Given the description of an element on the screen output the (x, y) to click on. 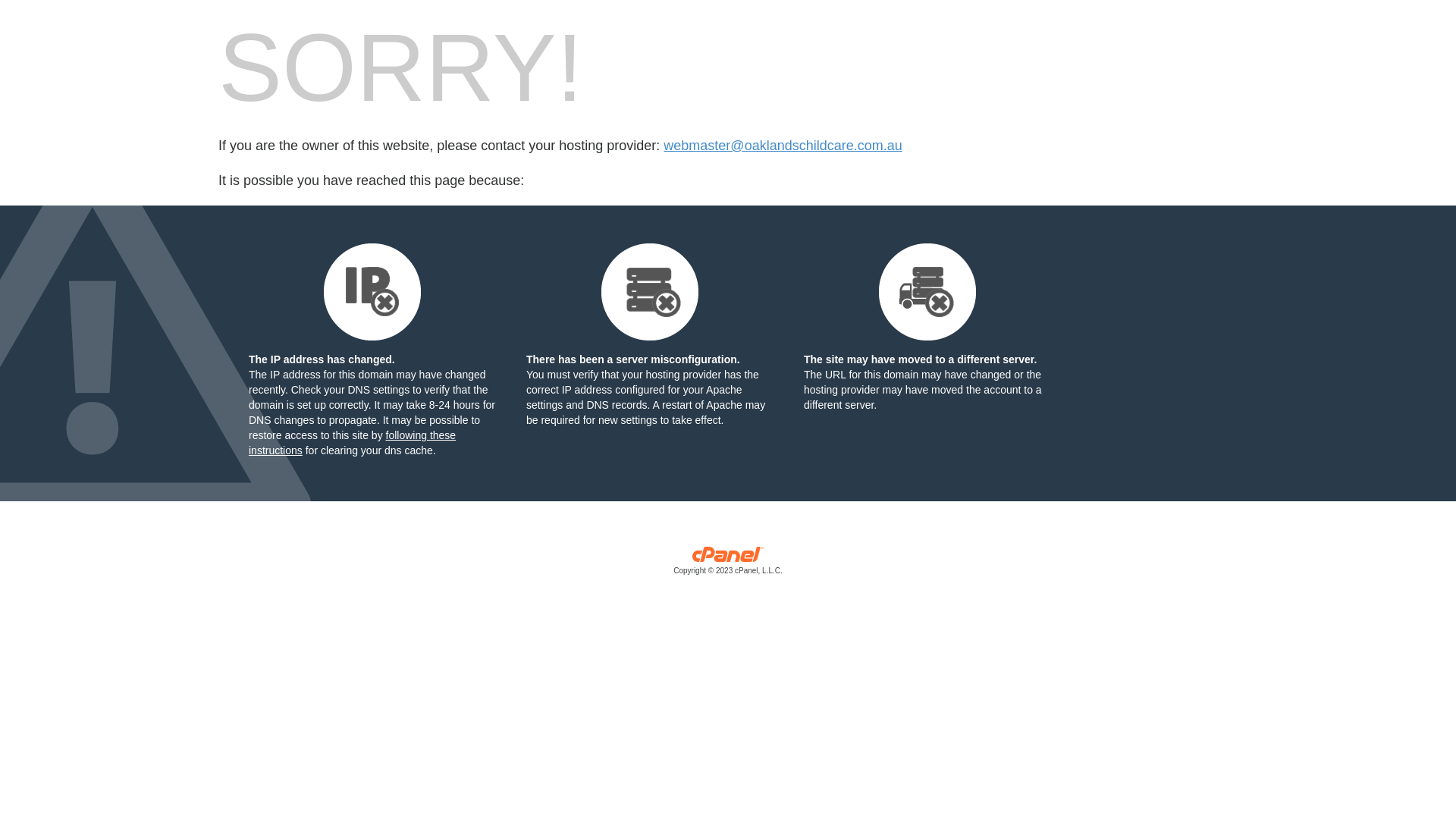
webmaster@oaklandschildcare.com.au Element type: text (782, 145)
following these instructions Element type: text (351, 442)
